Given the description of an element on the screen output the (x, y) to click on. 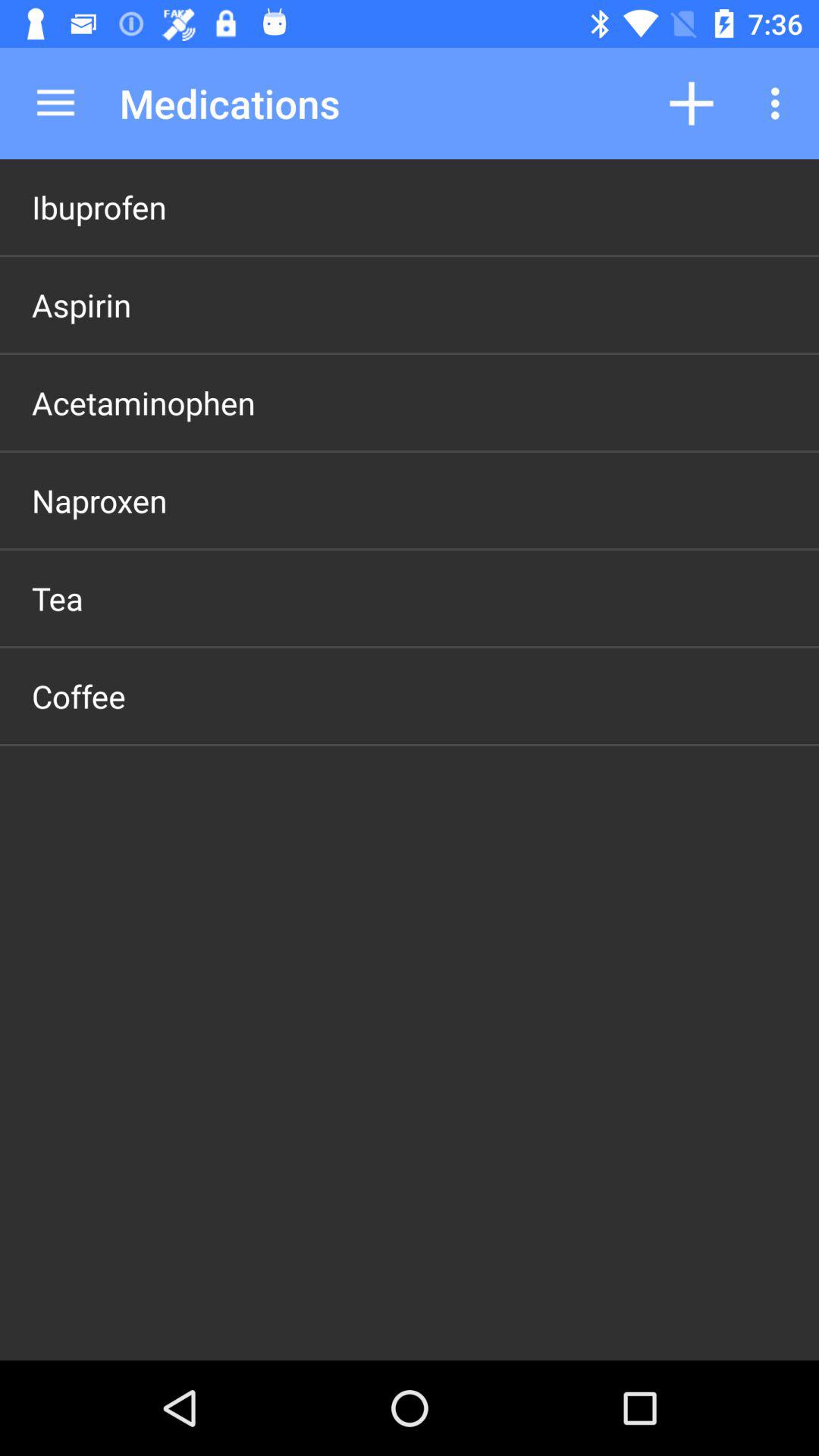
flip to coffee item (78, 695)
